Given the description of an element on the screen output the (x, y) to click on. 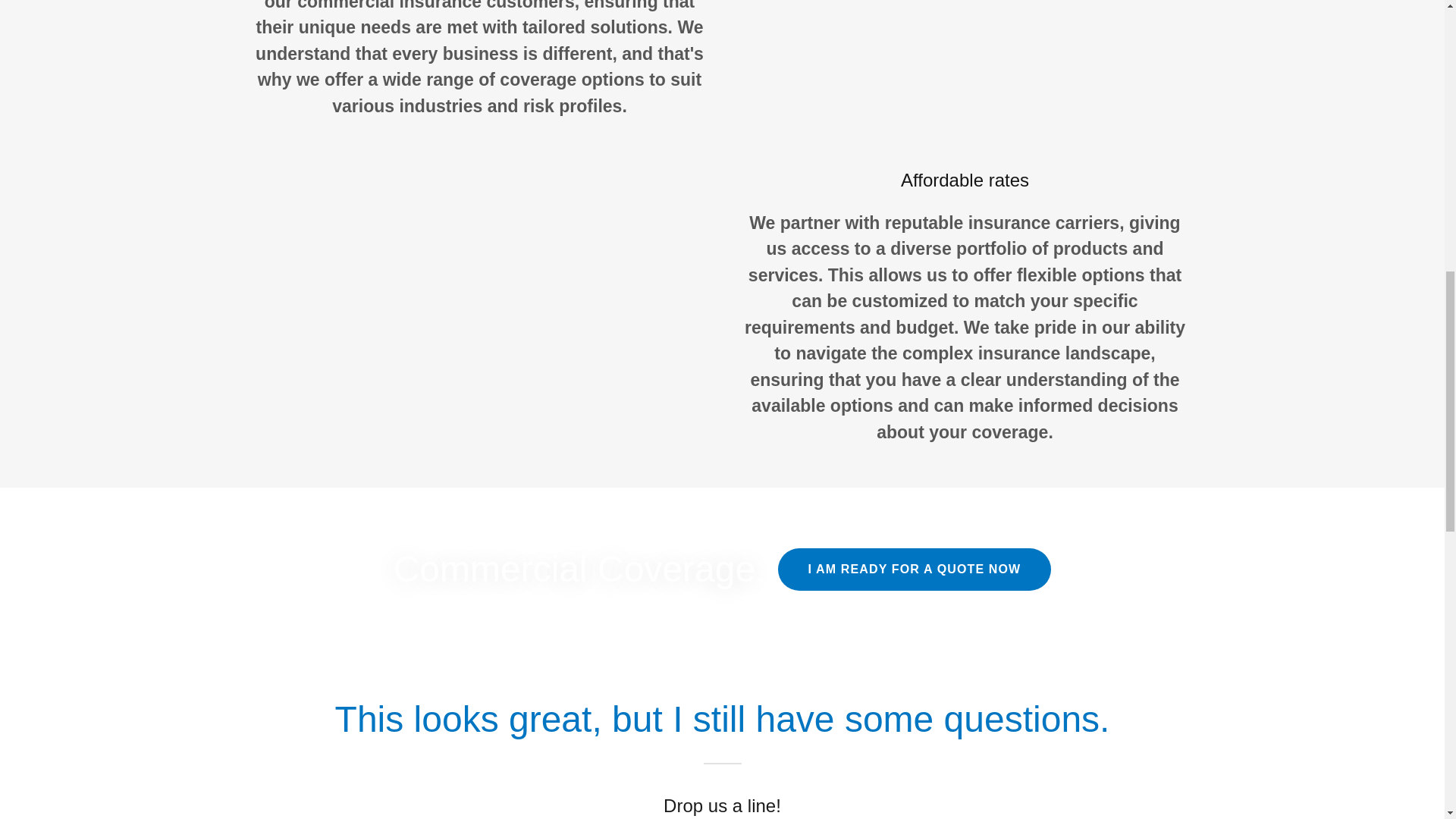
I AM READY FOR A QUOTE NOW (914, 568)
